Given the description of an element on the screen output the (x, y) to click on. 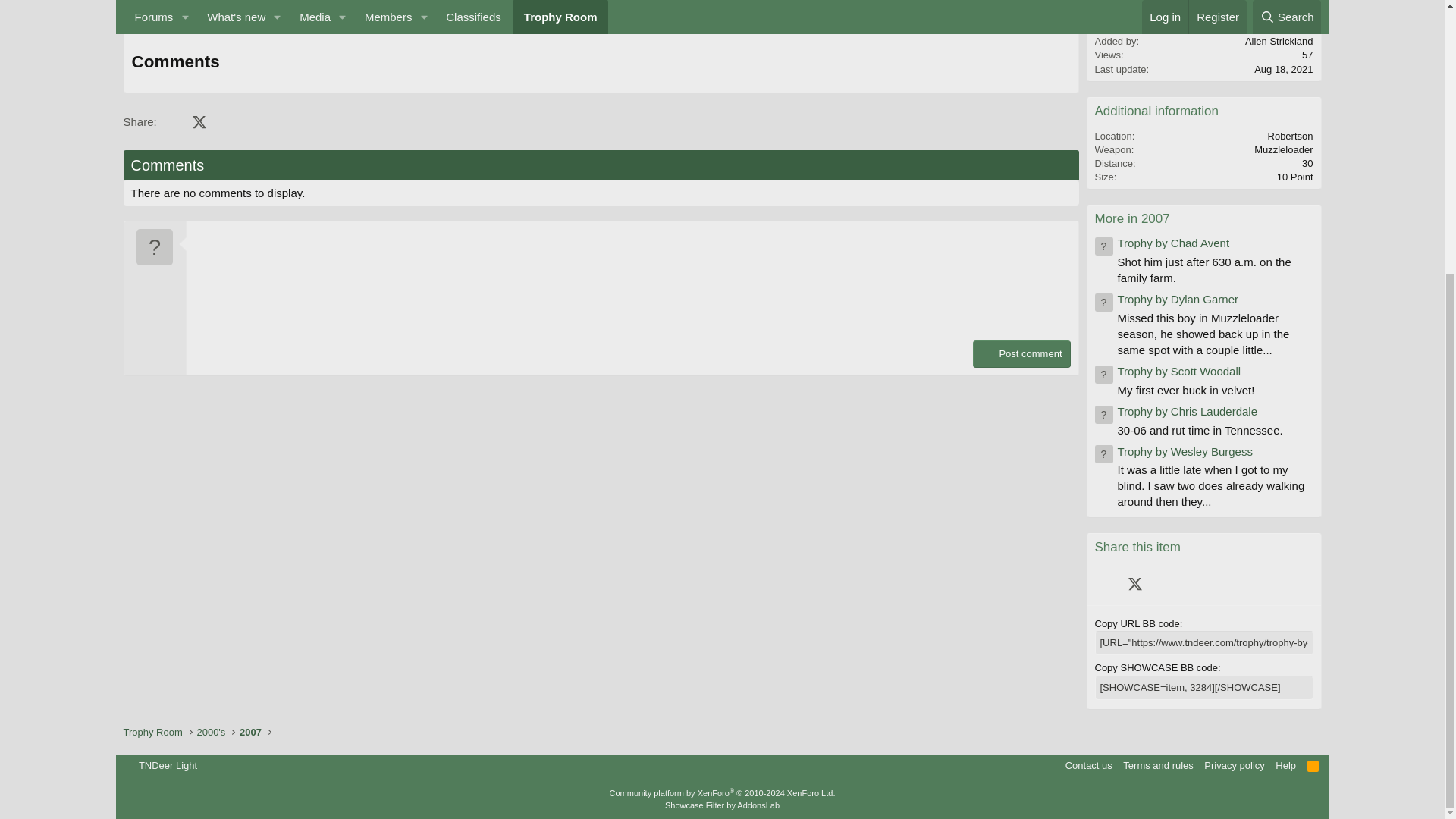
Overview Gallery (180, 7)
Style chooser (161, 765)
Aug 18, 2021 at 7:49 PM (1283, 69)
RSS (1313, 765)
